Given the description of an element on the screen output the (x, y) to click on. 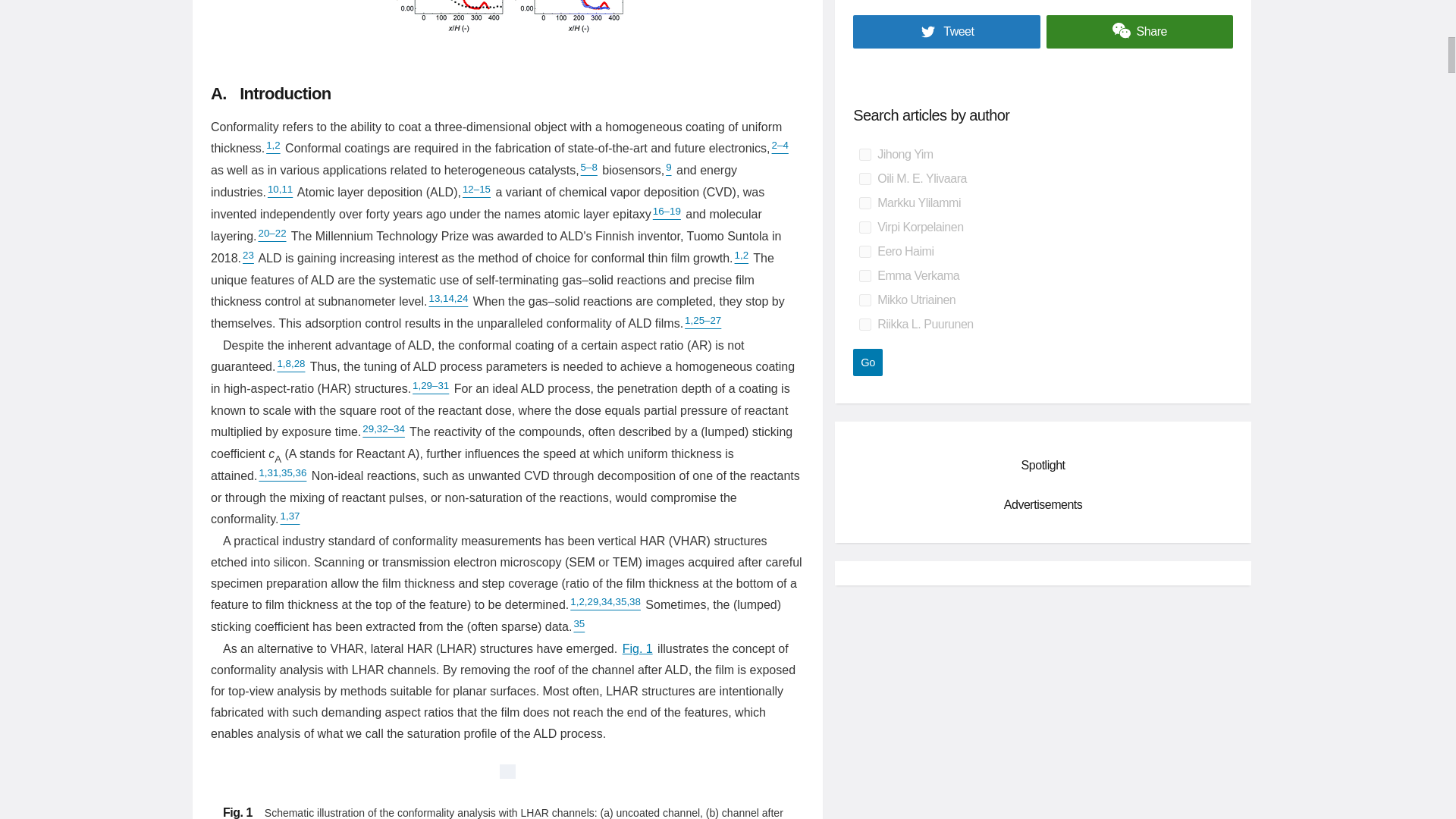
Go (867, 361)
on (864, 324)
on (864, 154)
on (864, 178)
on (864, 251)
on (864, 300)
on (864, 203)
on (864, 227)
on (864, 275)
